Given the description of an element on the screen output the (x, y) to click on. 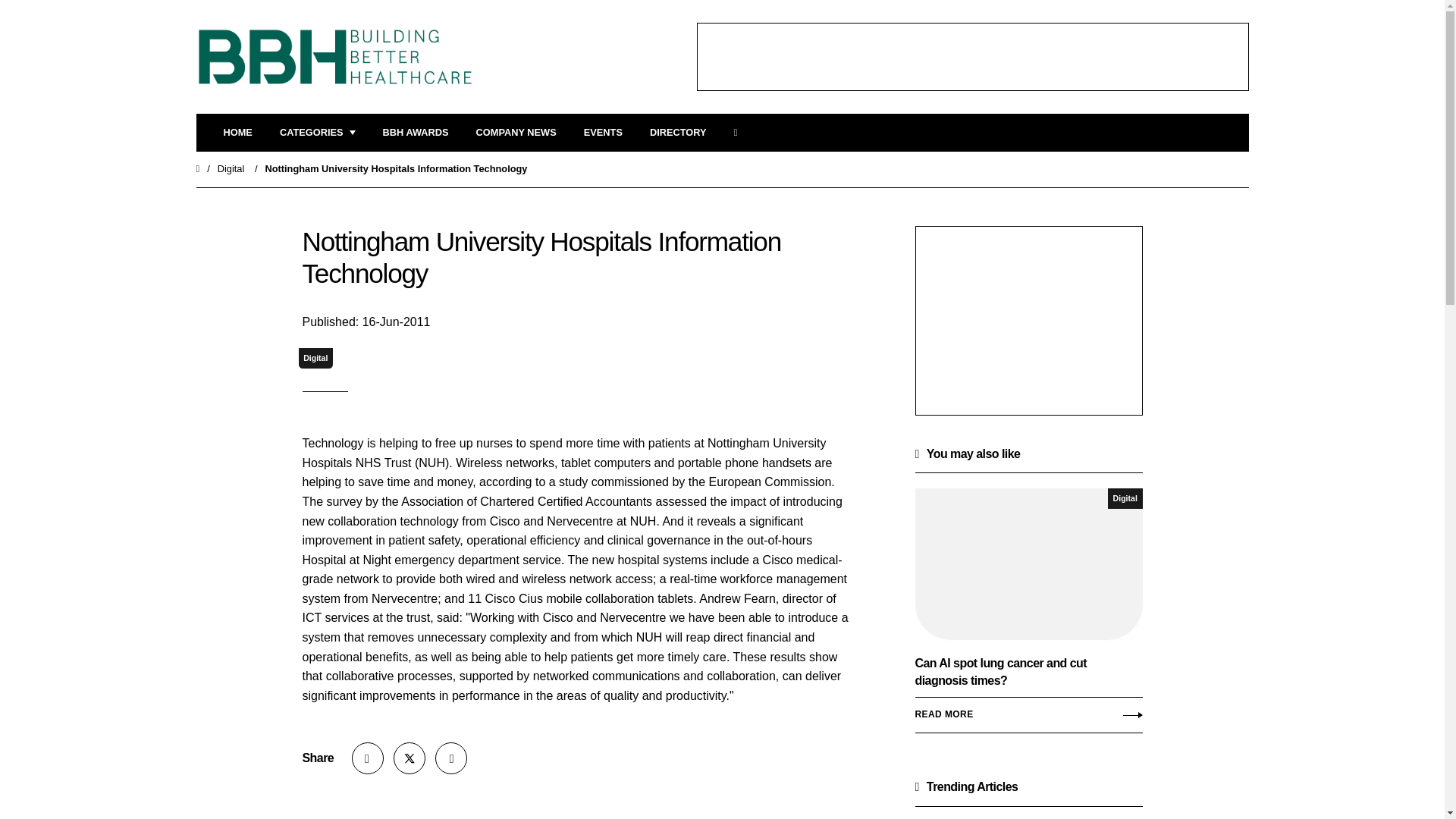
HOME (236, 133)
Follow Building Better Healthcare on X (409, 757)
Digital (315, 358)
EVENTS (603, 133)
Digital (230, 168)
Directory (677, 133)
BBH AWARDS (415, 133)
Share this article (368, 757)
Digital (1125, 498)
Share (368, 757)
